Given the description of an element on the screen output the (x, y) to click on. 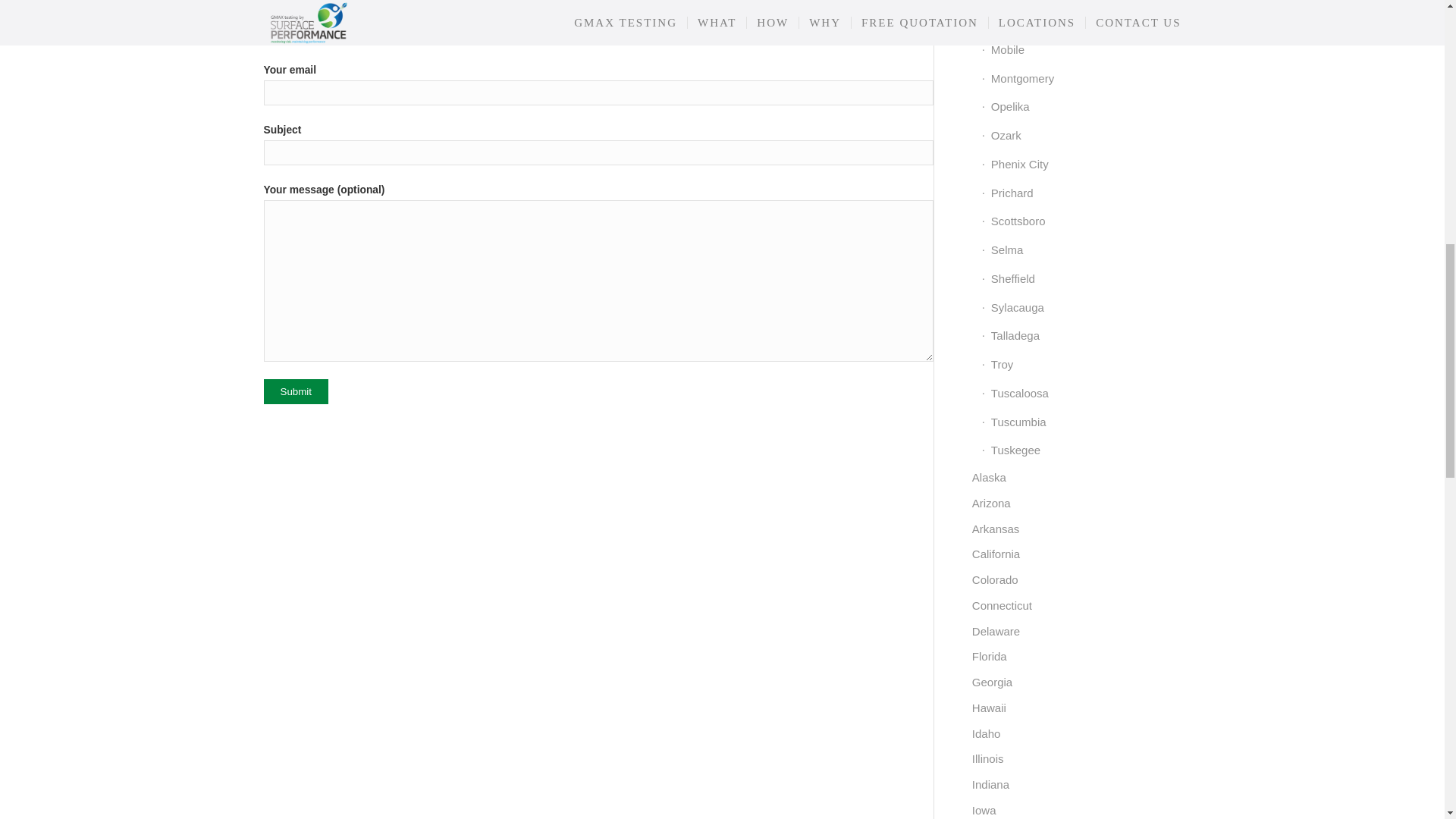
Submit (296, 391)
Submit (296, 391)
